Given the description of an element on the screen output the (x, y) to click on. 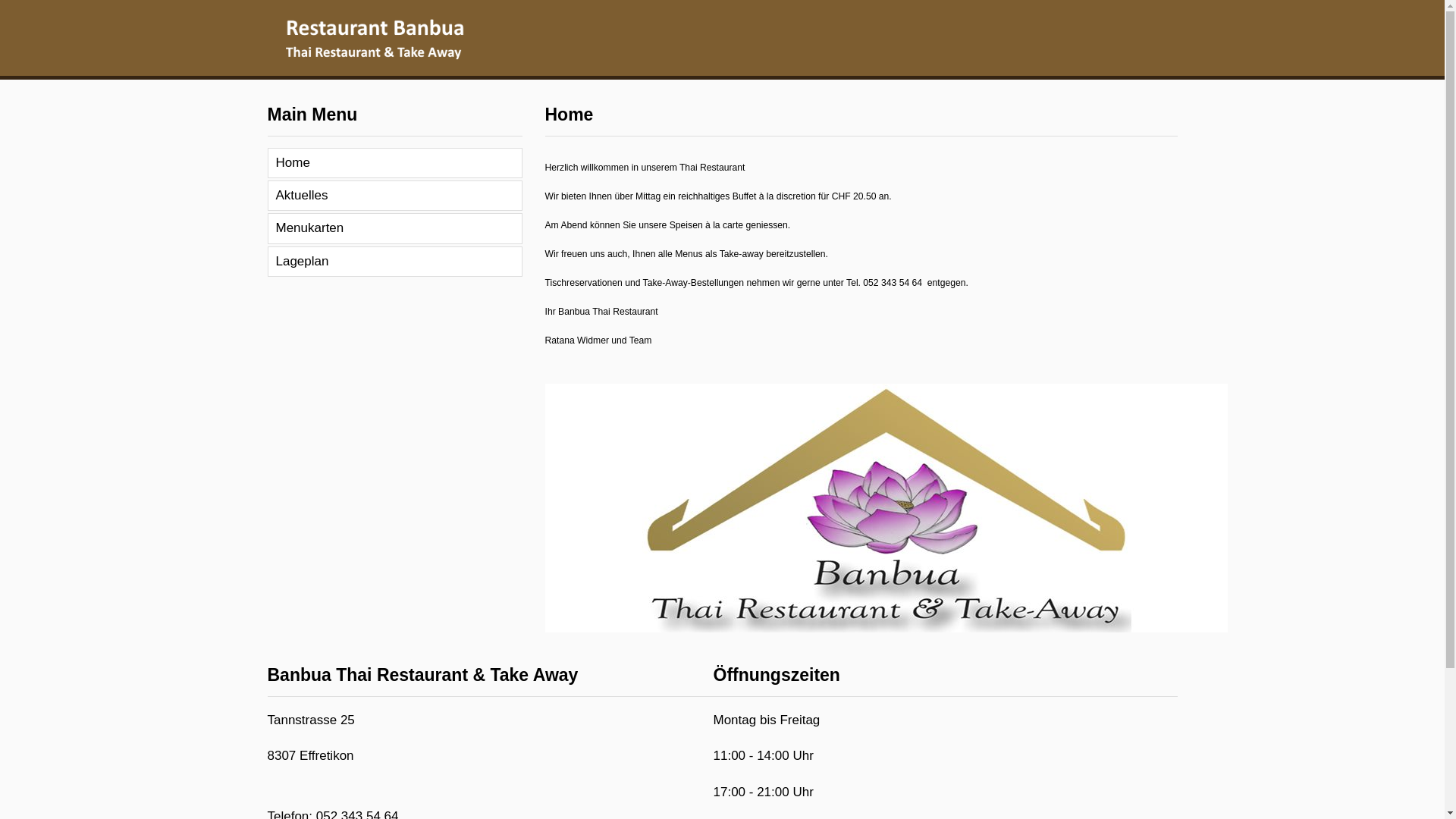
Aktuelles Element type: text (393, 195)
Menukarten Element type: text (393, 228)
Home Element type: text (393, 162)
Lageplan Element type: text (393, 261)
